Given the description of an element on the screen output the (x, y) to click on. 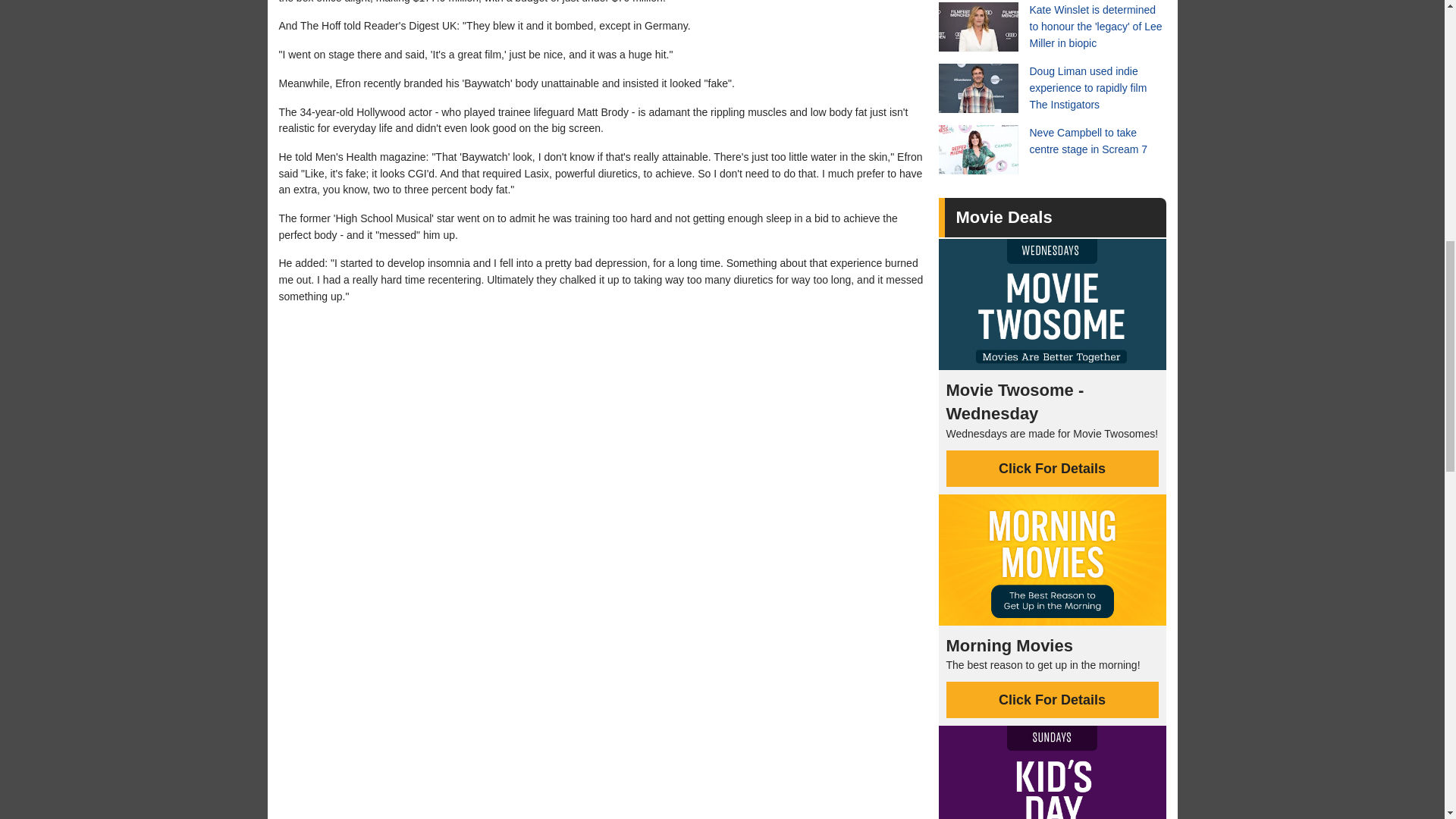
Movie Deals (1003, 217)
Neve Campbell to take centre stage in Scream 7 (1052, 149)
Click For Details (1052, 468)
Click For Details (1052, 699)
